Given the description of an element on the screen output the (x, y) to click on. 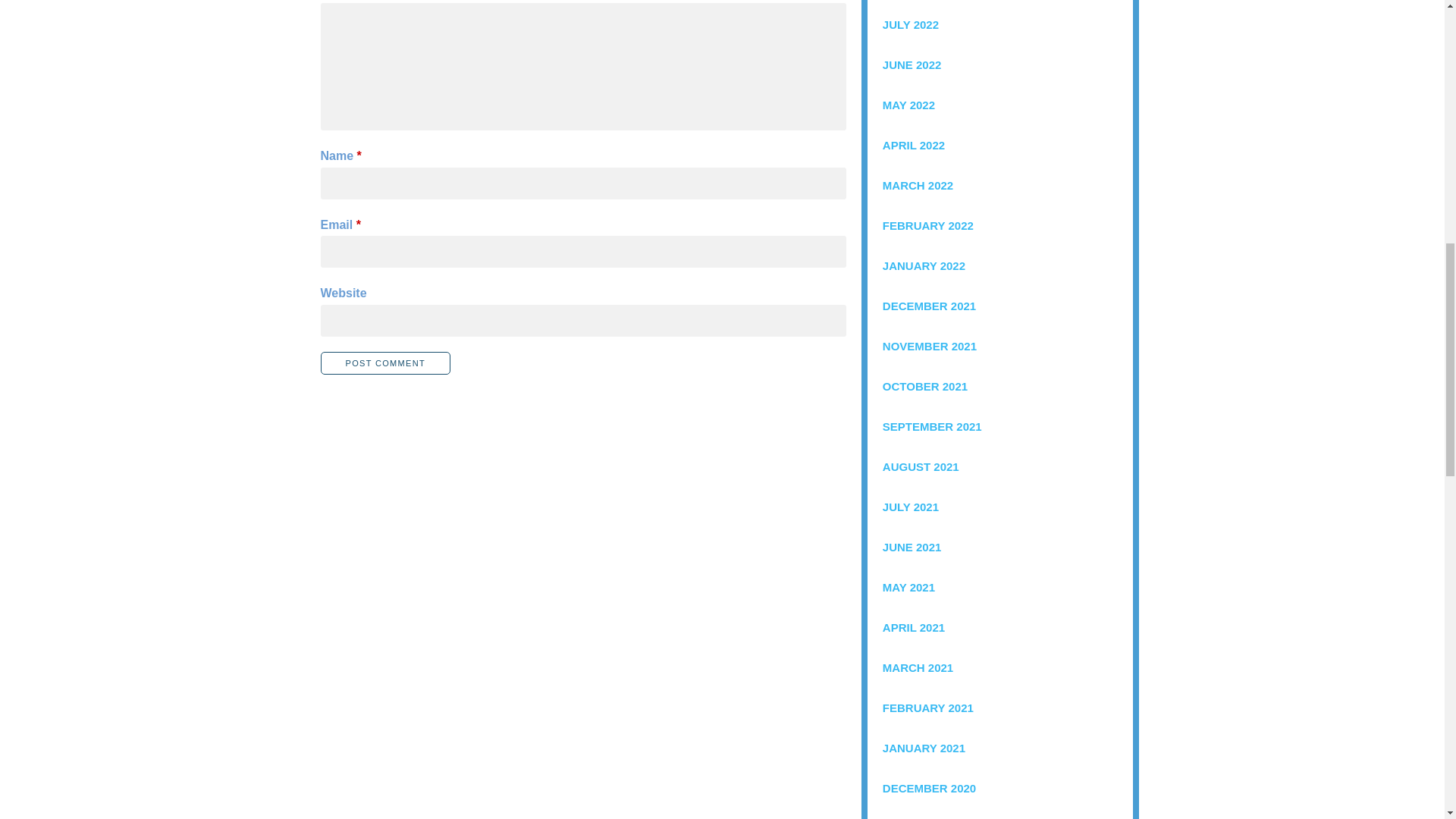
DECEMBER 2020 (1000, 788)
JUNE 2021 (1000, 547)
OCTOBER 2021 (1000, 386)
Post Comment (384, 363)
NOVEMBER 2021 (1000, 345)
JUNE 2022 (1000, 65)
JULY 2022 (1000, 24)
APRIL 2022 (1000, 145)
JULY 2021 (1000, 506)
APRIL 2021 (1000, 627)
